Given the description of an element on the screen output the (x, y) to click on. 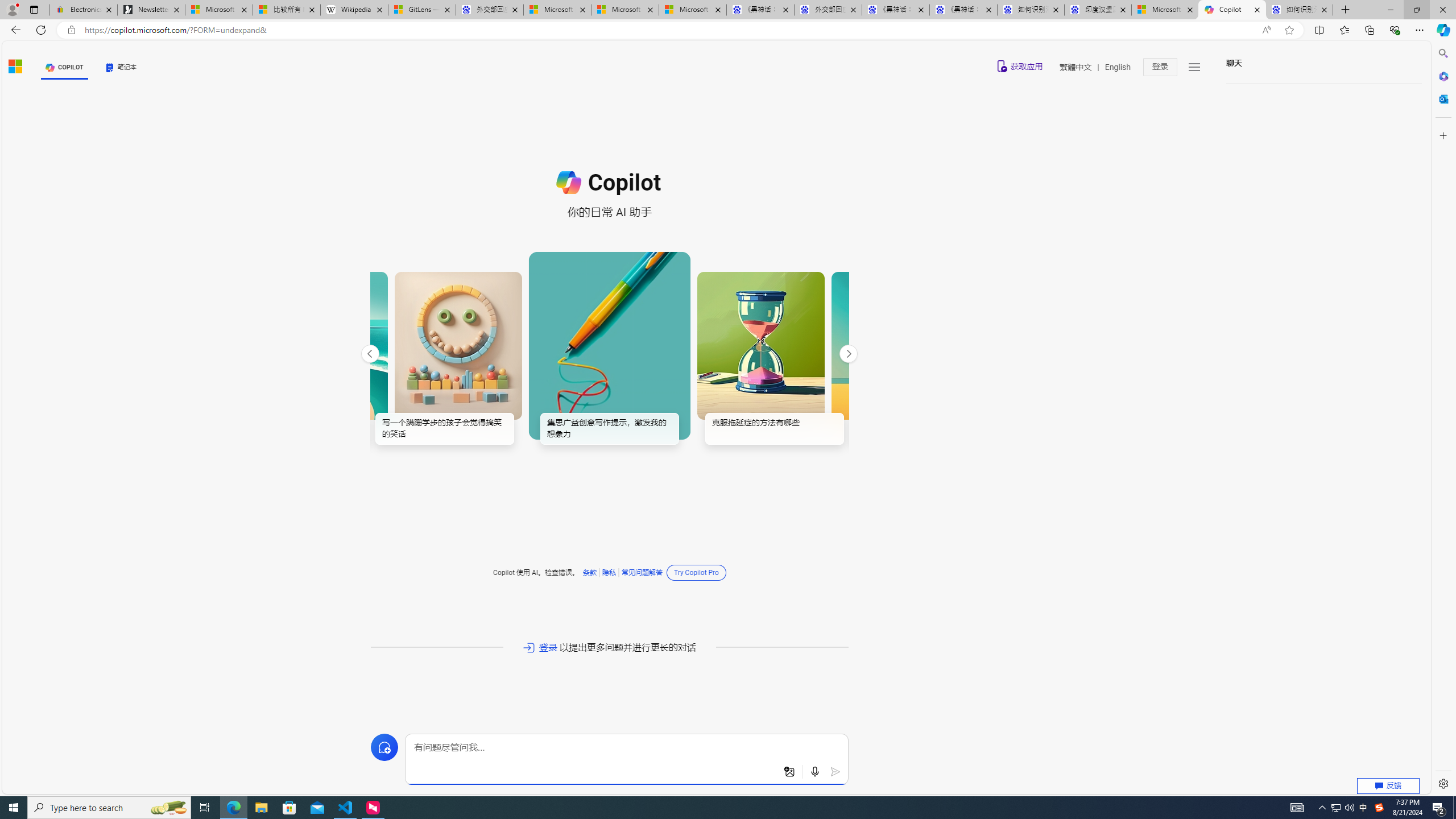
Copilot (1232, 9)
